Given the description of an element on the screen output the (x, y) to click on. 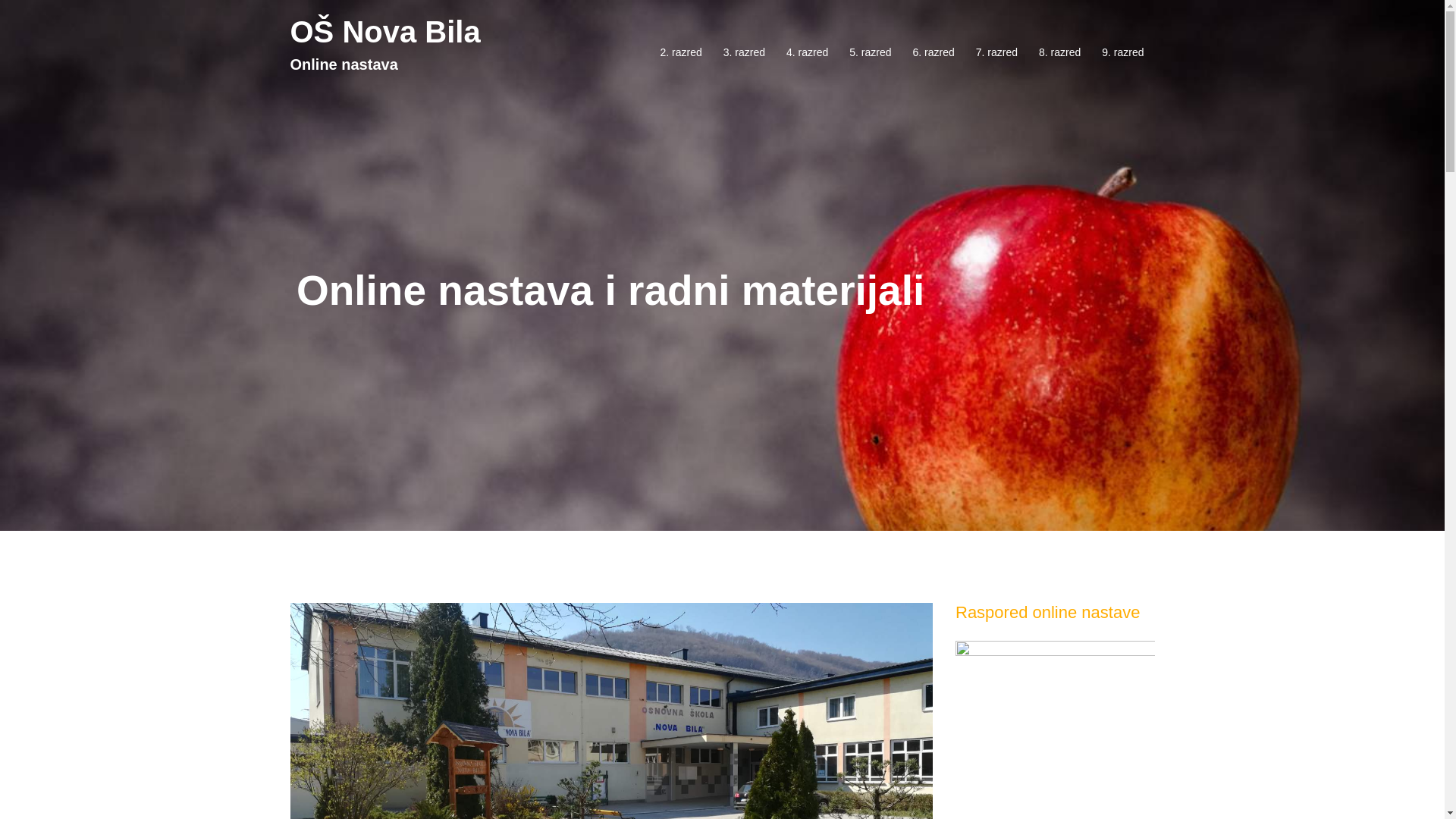
8. razred Element type: text (1059, 52)
7. razred Element type: text (996, 52)
9. razred Element type: text (1122, 52)
6. razred Element type: text (933, 52)
3. razred Element type: text (744, 52)
4. razred Element type: text (807, 52)
5. razred Element type: text (870, 52)
2. razred Element type: text (680, 52)
